Given the description of an element on the screen output the (x, y) to click on. 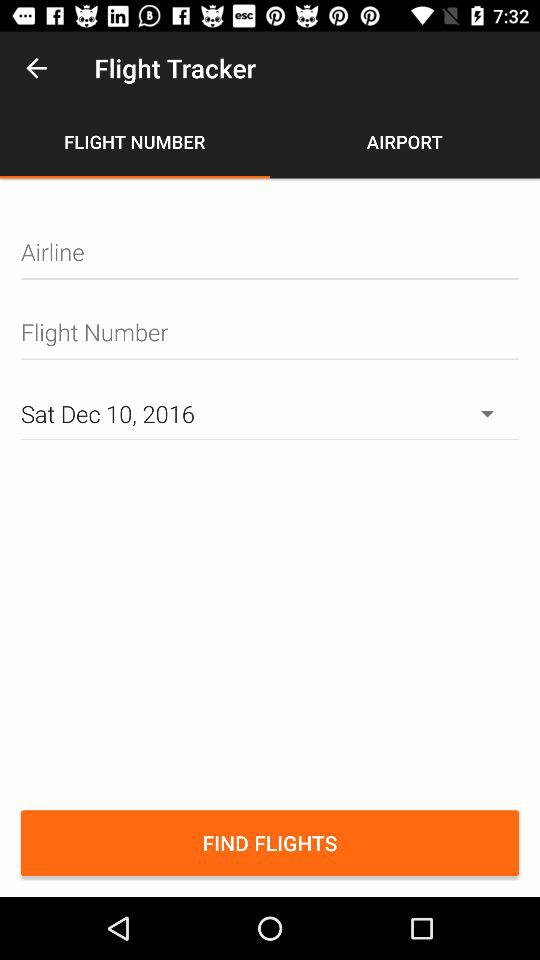
tap the find flights item (270, 843)
